Given the description of an element on the screen output the (x, y) to click on. 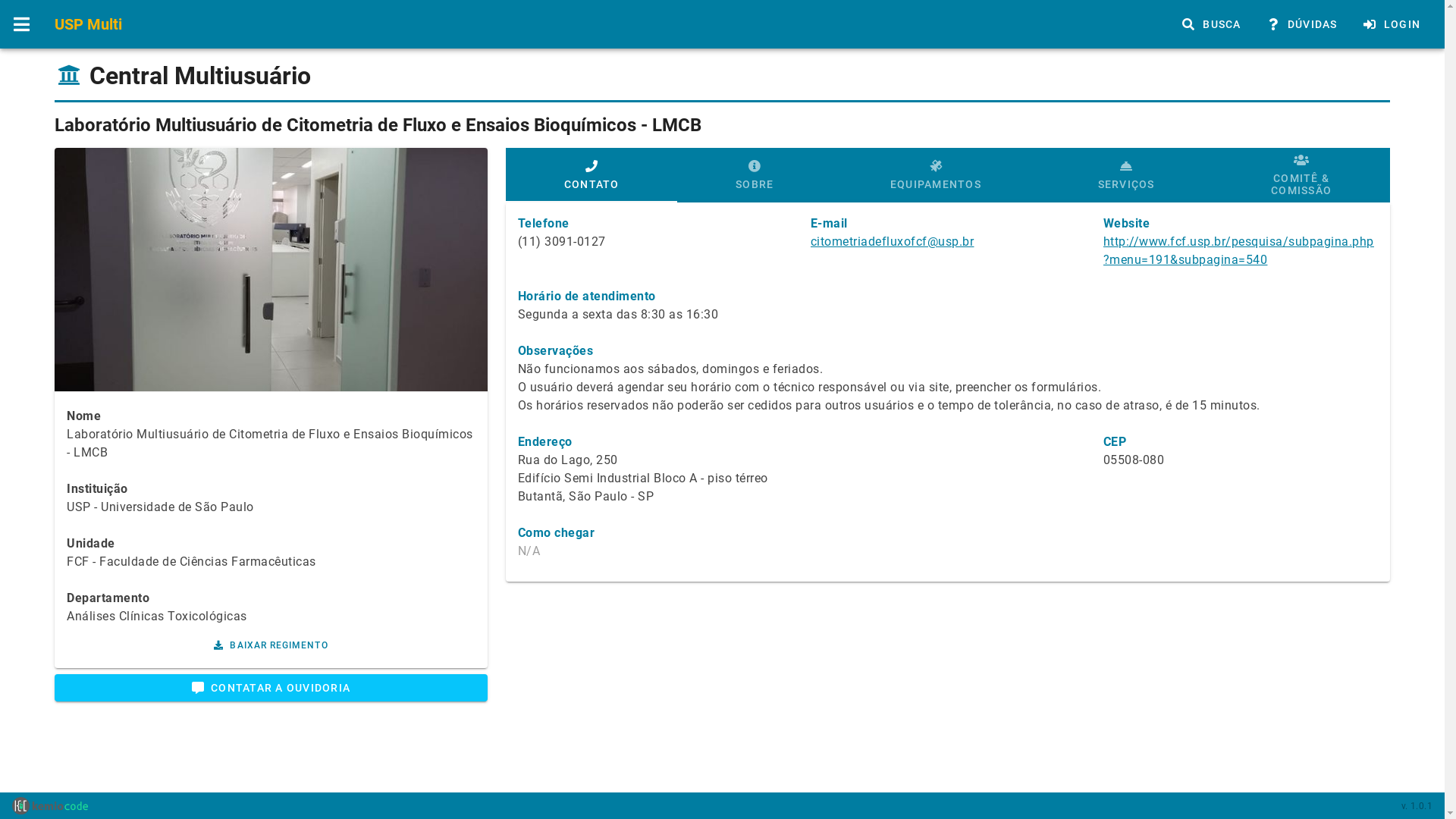
USP Multi Element type: text (88, 24)
citometriadefluxofcf@usp.br Element type: text (892, 241)
BUSCA Element type: text (1210, 24)
BAIXAR REGIMENTO Element type: text (270, 644)
LOGIN Element type: text (1391, 24)
CONTATAR A OUVIDORIA Element type: text (270, 687)
Abrir imagem em uma nova aba Element type: hover (270, 269)
